Given the description of an element on the screen output the (x, y) to click on. 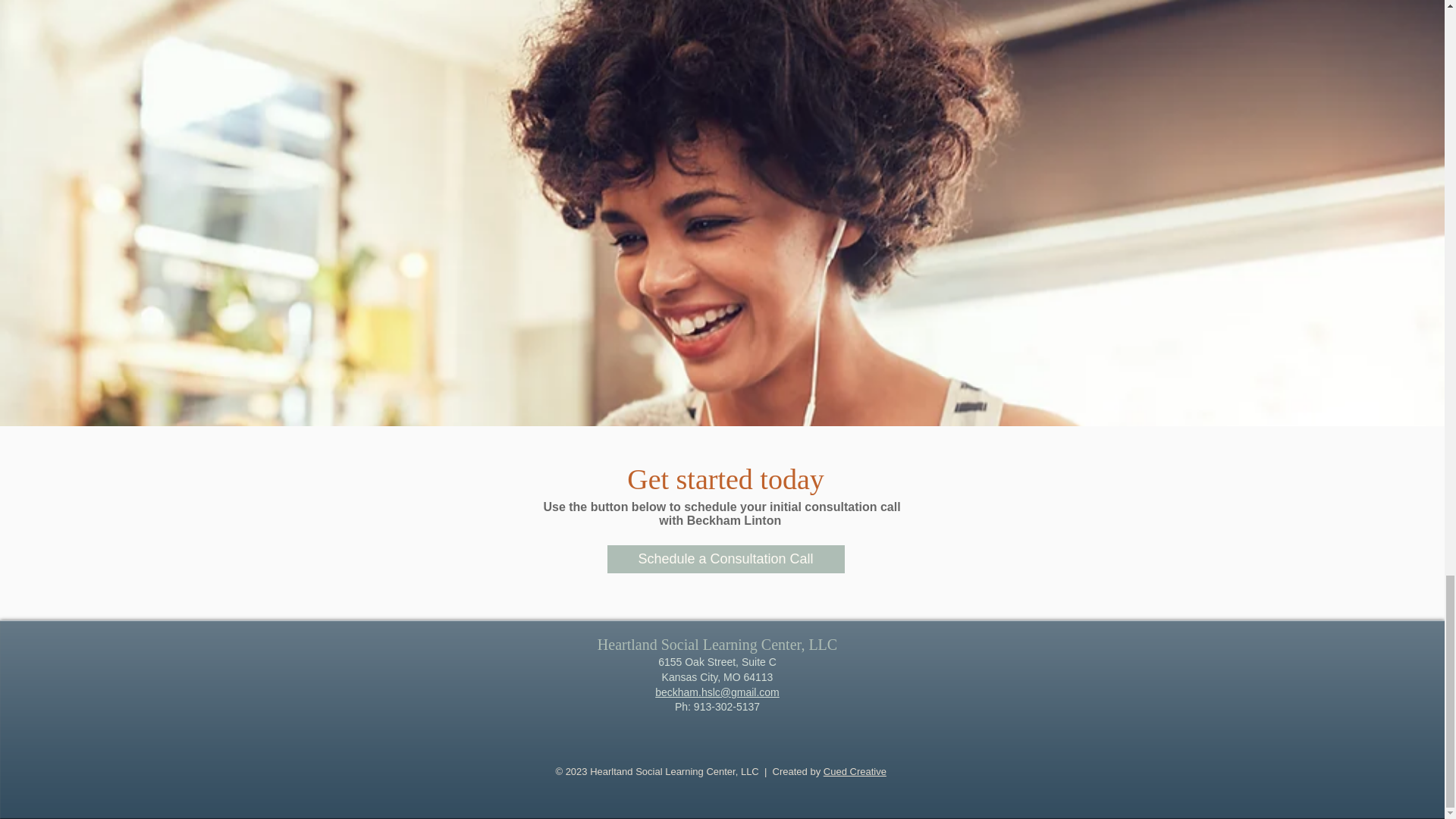
Schedule a Consultation Call (725, 559)
913-302-5137 (727, 706)
Cued Creative (855, 771)
